Given the description of an element on the screen output the (x, y) to click on. 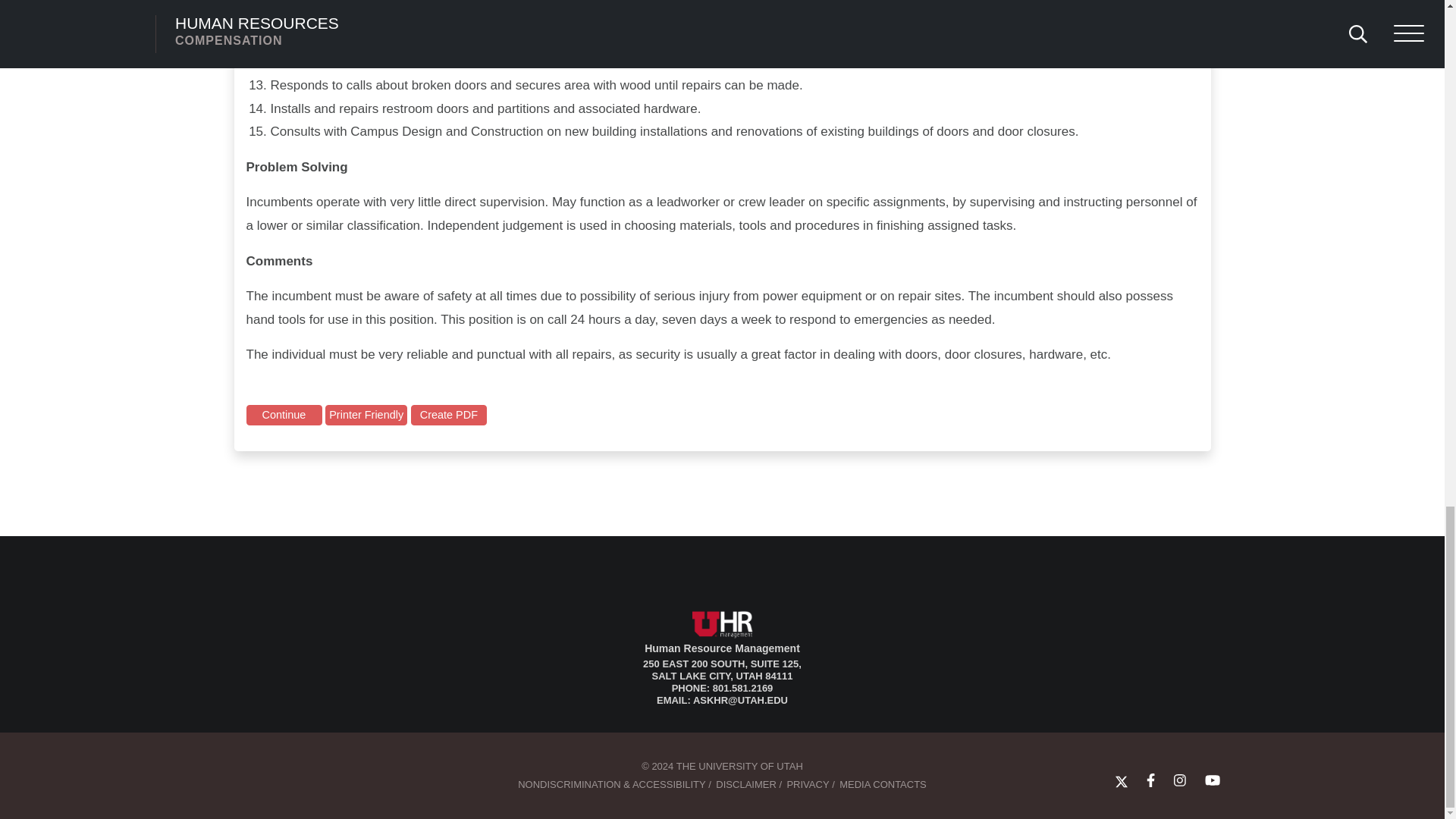
University of Utah (284, 771)
